Given the description of an element on the screen output the (x, y) to click on. 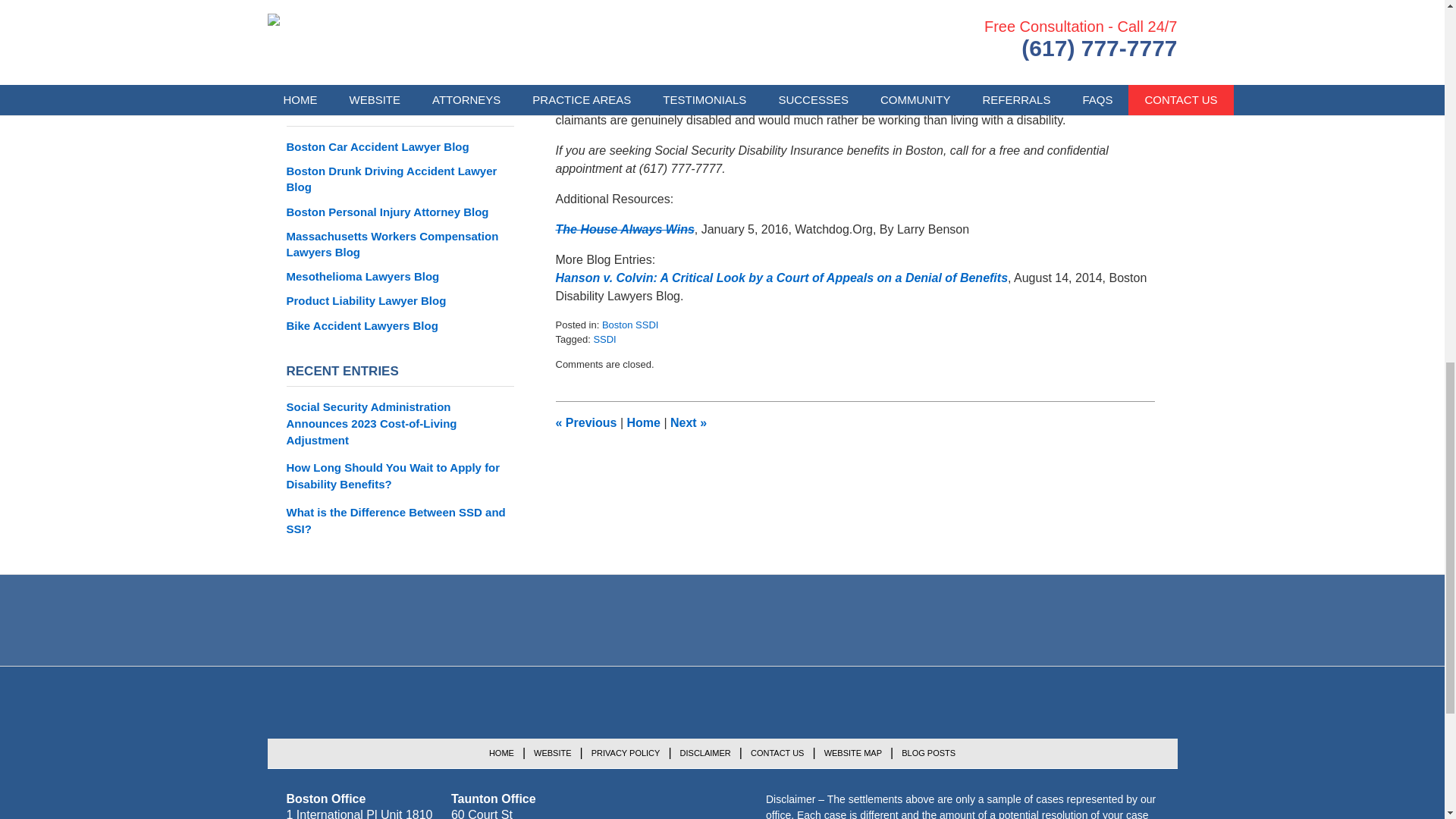
Boston SSDI (630, 324)
View all posts in Boston SSDI (630, 324)
Boston Car Accident Lawyer Blog (399, 146)
disability benefits (722, 101)
View all posts tagged with SSDI (603, 338)
SSDI (603, 338)
The House Always Wins (624, 228)
Home (642, 422)
SEARCH (499, 59)
